Given the description of an element on the screen output the (x, y) to click on. 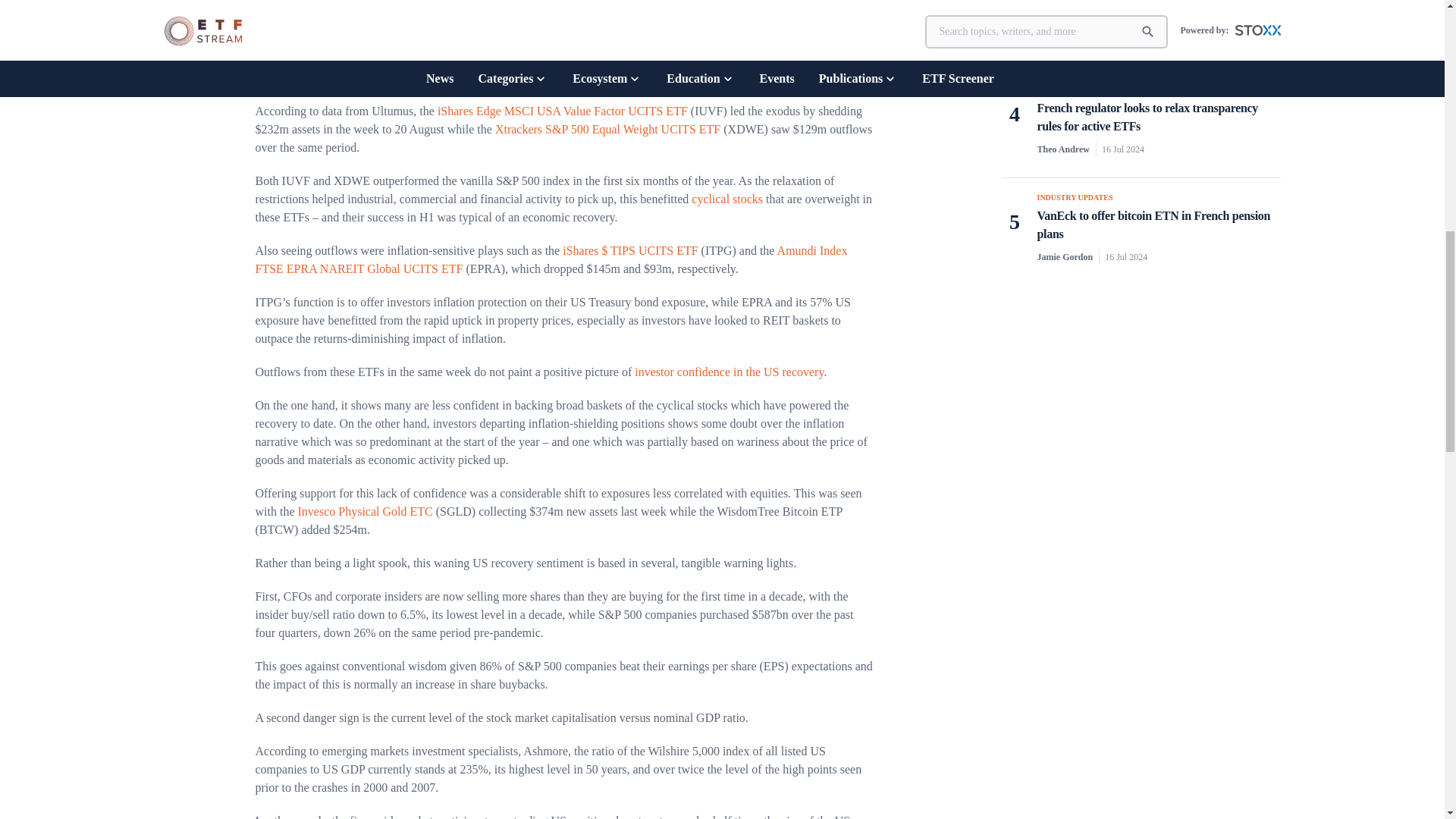
investor confidence in the US recovery (729, 371)
cyclical stocks (726, 198)
Amundi Index FTSE EPRA NAREIT Global UCITS ETF (550, 259)
iShares Edge MSCI USA Value Factor UCITS ETF (562, 110)
Invesco Physical Gold ETC (364, 511)
